Given the description of an element on the screen output the (x, y) to click on. 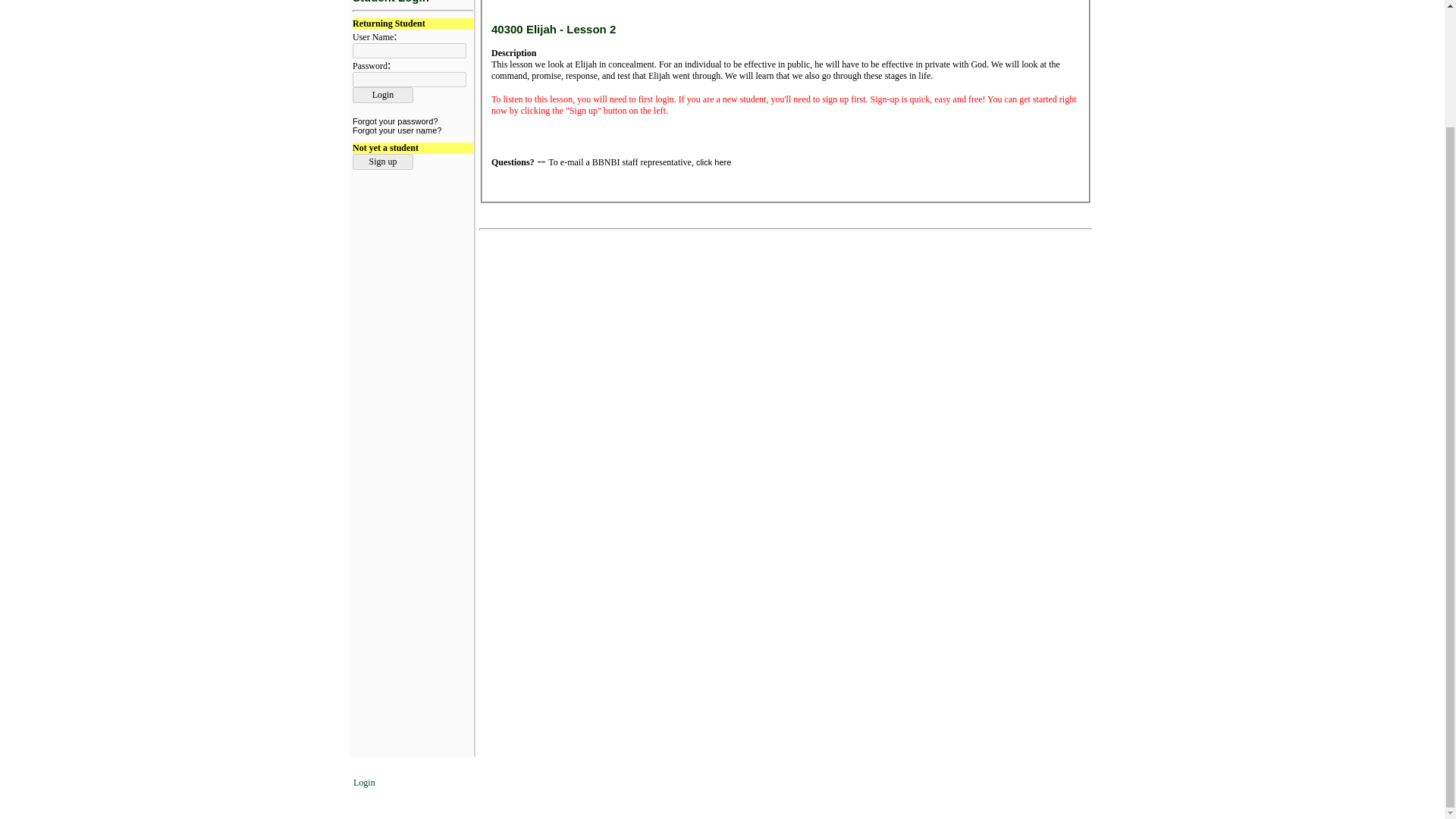
Copyright (737, 781)
Forgot your user name? (396, 130)
Sign up (382, 161)
Login (382, 94)
Forgot your password? (395, 121)
Online Bible (679, 781)
Login (363, 782)
Sign up (382, 161)
Login (382, 94)
Privacy (785, 781)
